Given the description of an element on the screen output the (x, y) to click on. 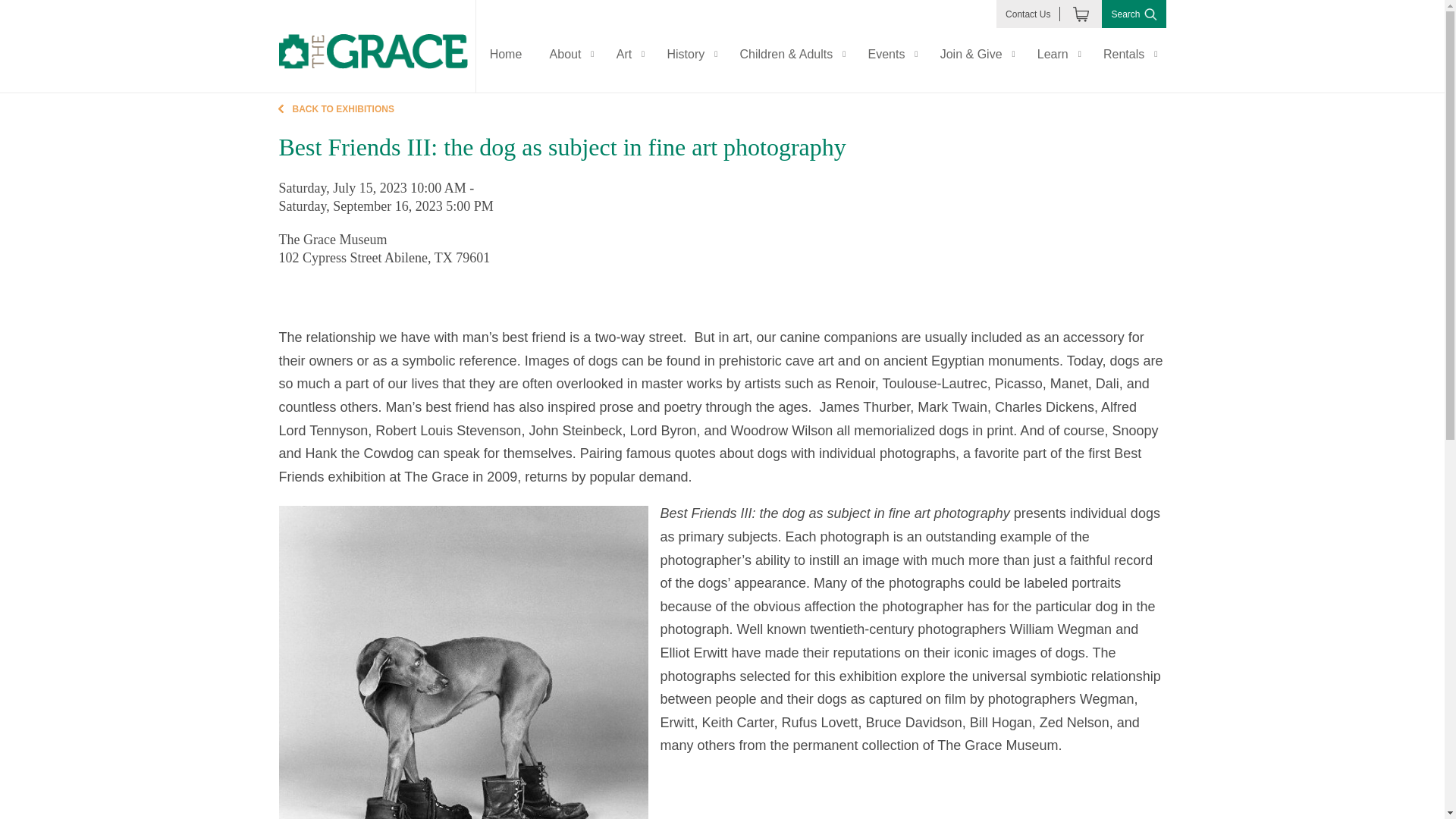
Search (1134, 14)
History (689, 53)
The Grace Museum (373, 51)
About (568, 53)
Home (506, 53)
Events (890, 53)
Back to exhibitions (722, 109)
Contact Us (1027, 14)
Art (627, 53)
